Given the description of an element on the screen output the (x, y) to click on. 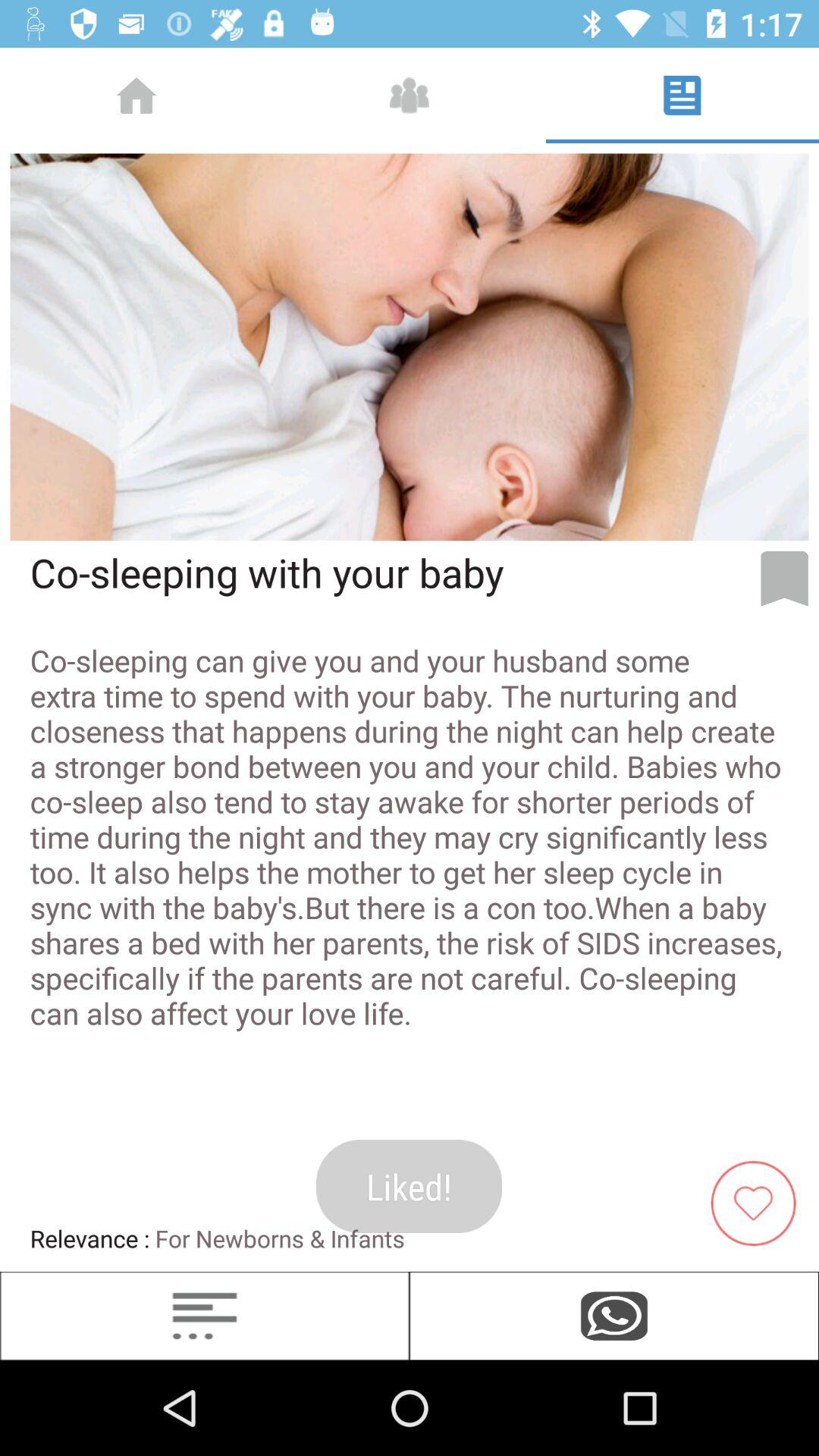
favorite the article (759, 1201)
